Given the description of an element on the screen output the (x, y) to click on. 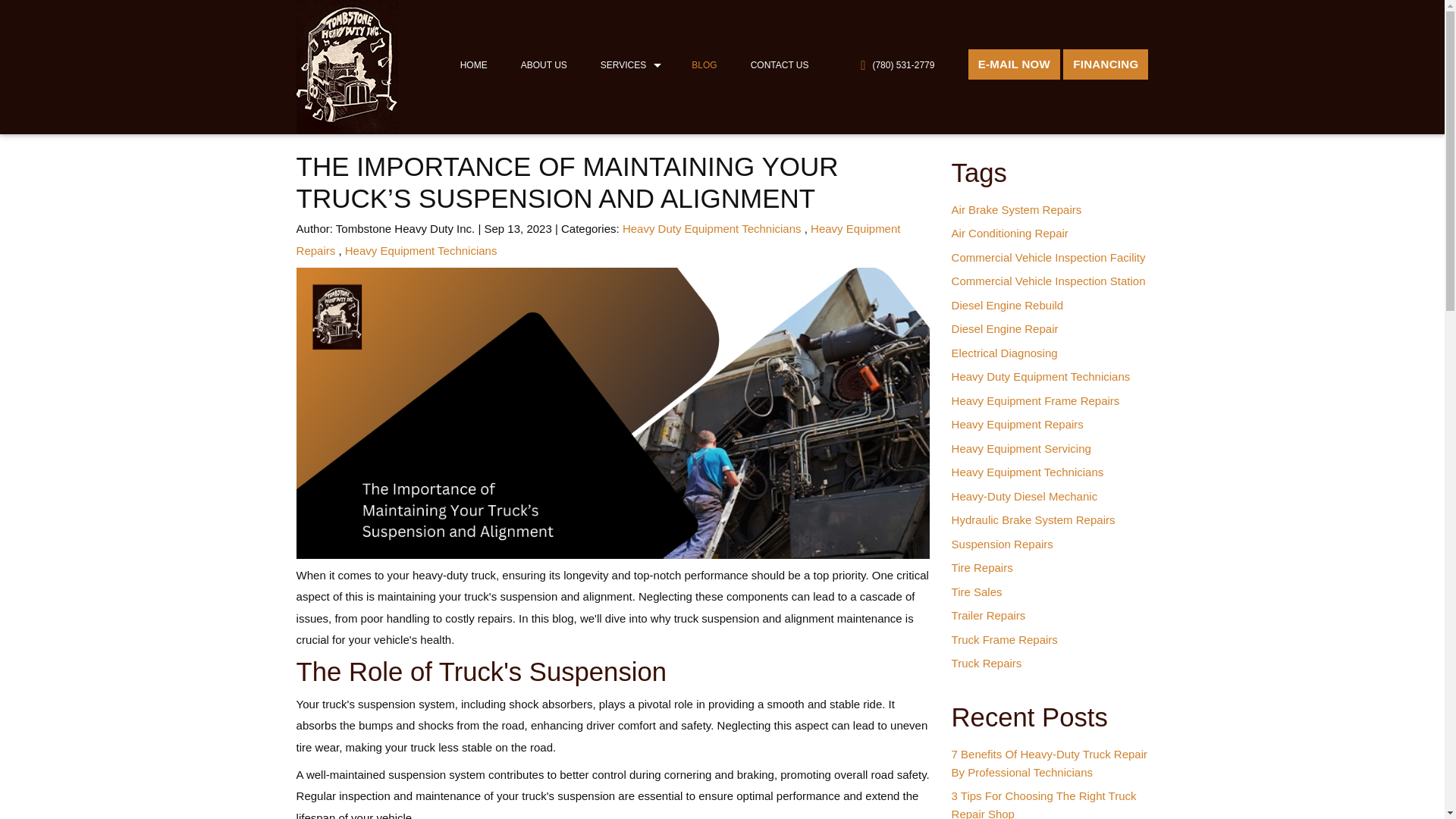
ABOUT US (541, 65)
FINANCING (1105, 64)
Heavy Equipment Technicians (421, 250)
HOME (471, 65)
Heavy Equipment Repairs (599, 239)
SERVICES (626, 65)
Air Brake System Repairs (1016, 209)
E-MAIL NOW (1013, 64)
Heavy Duty Equipment Technicians (712, 228)
CONTACT US (778, 65)
BLOG (701, 65)
